Given the description of an element on the screen output the (x, y) to click on. 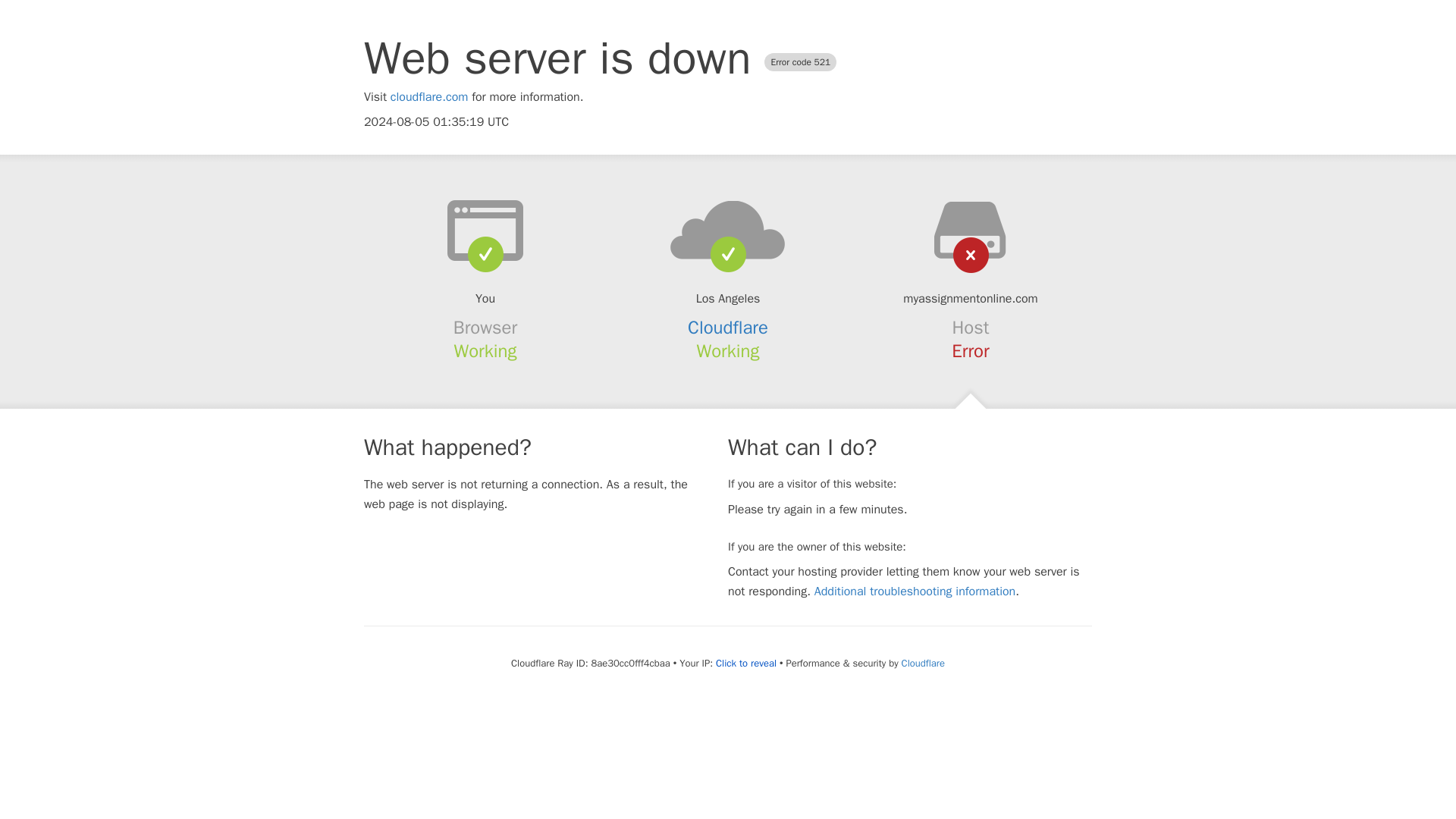
Cloudflare (727, 327)
cloudflare.com (429, 96)
Additional troubleshooting information (913, 590)
Cloudflare (922, 662)
Click to reveal (746, 663)
